Given the description of an element on the screen output the (x, y) to click on. 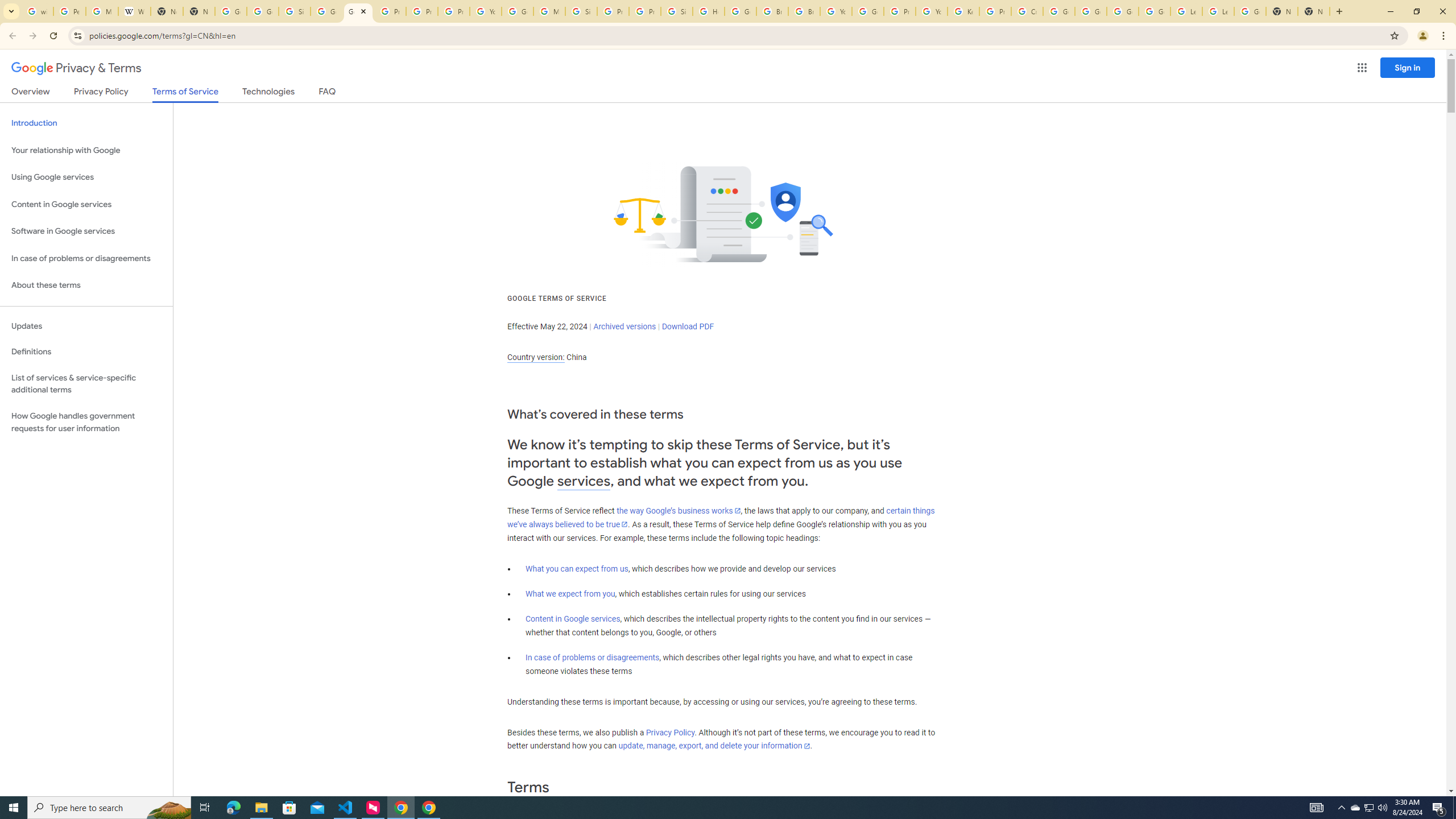
Google Account Help (1059, 11)
Manage your Location History - Google Search Help (101, 11)
About these terms (86, 284)
Google Drive: Sign-in (262, 11)
In case of problems or disagreements (592, 657)
Country version: (535, 357)
